Given the description of an element on the screen output the (x, y) to click on. 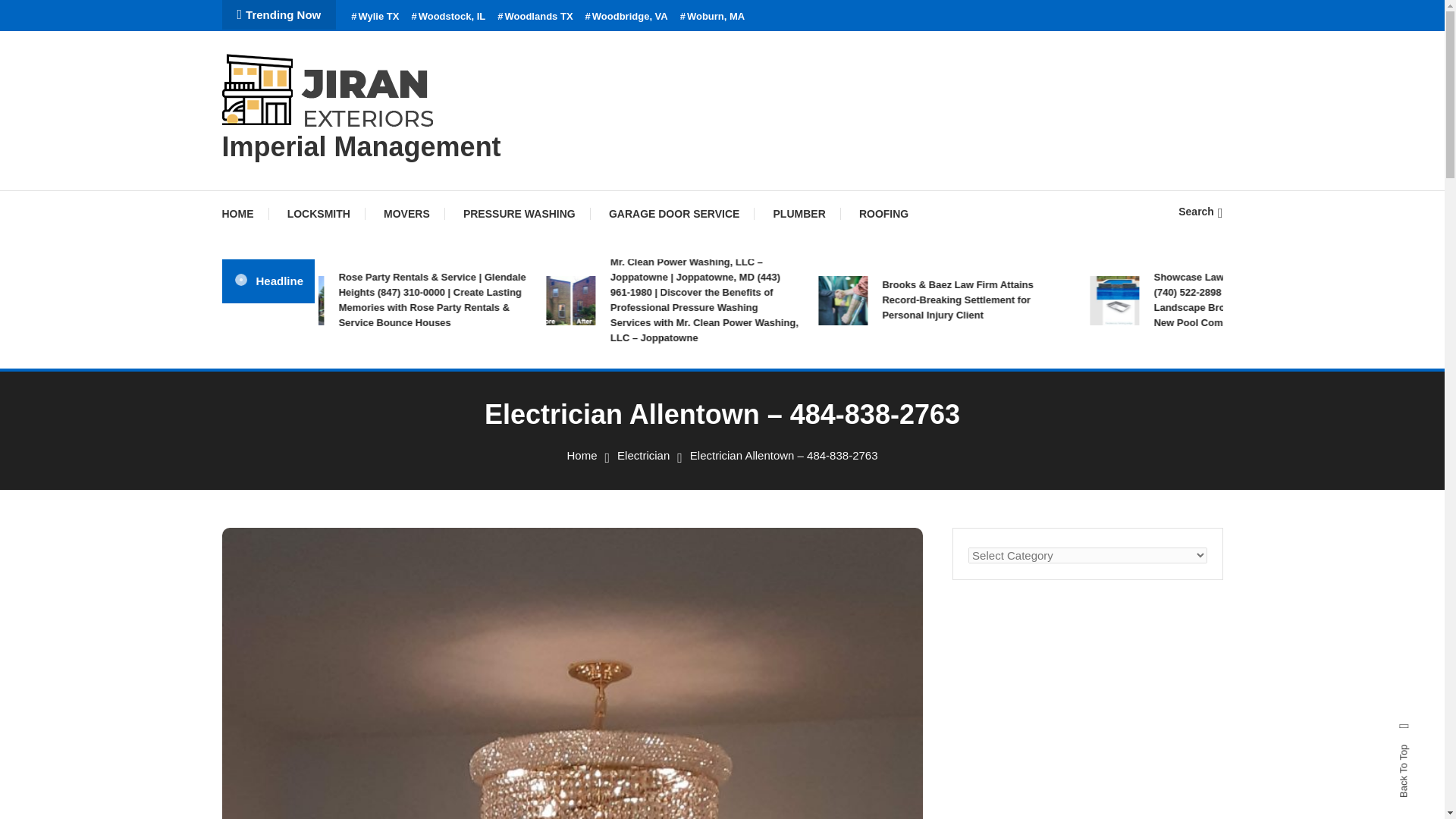
ROOFING (883, 213)
Electrician (643, 454)
Woodlands TX (534, 16)
Search (768, 434)
Imperial Management (360, 146)
Woodstock, IL (447, 16)
Woodbridge, VA (626, 16)
Wylie TX (374, 16)
PRESSURE WASHING (519, 213)
MOVERS (406, 213)
